Given the description of an element on the screen output the (x, y) to click on. 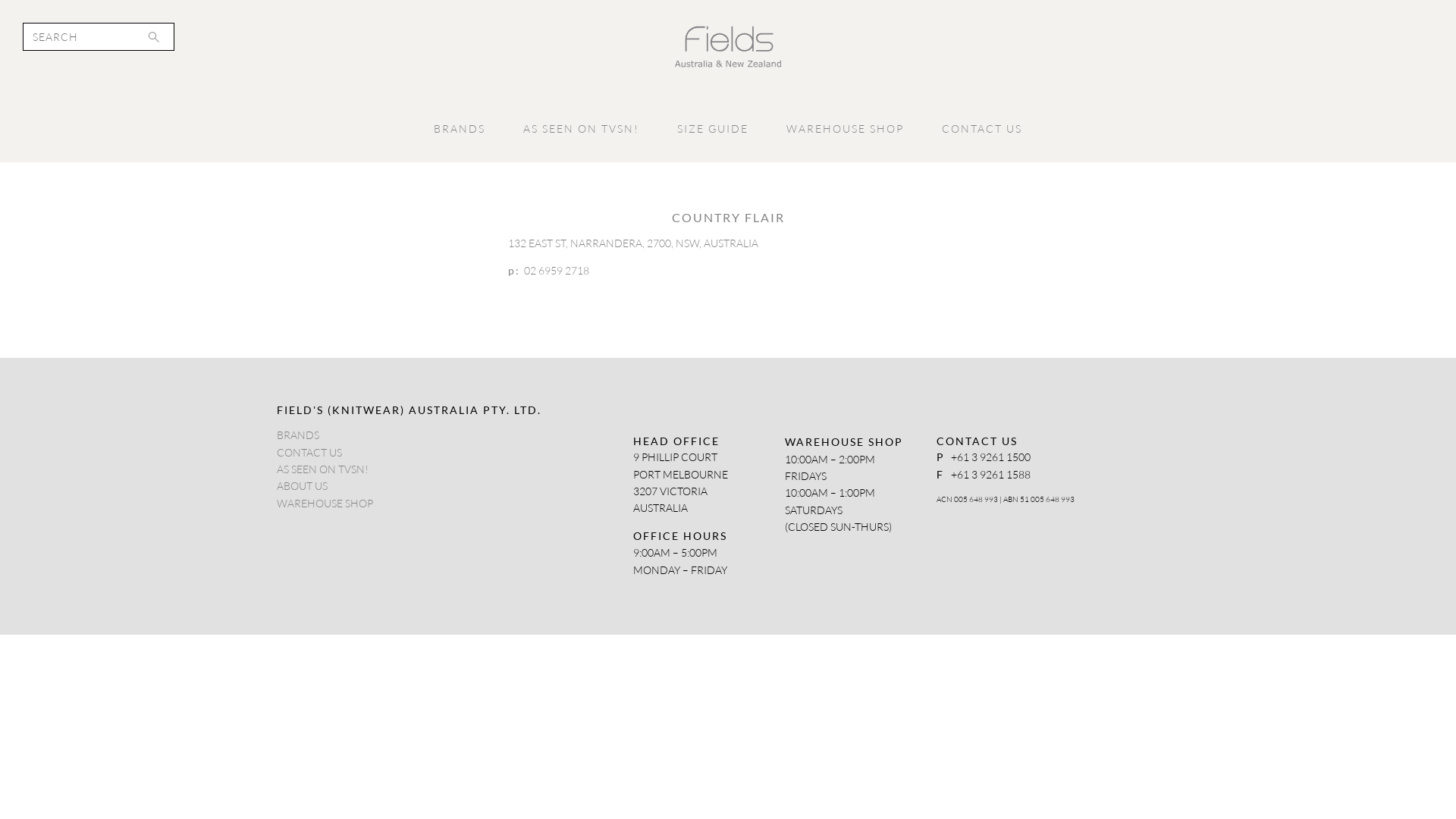
AS SEEN ON TVSN! Element type: text (322, 469)
WAREHOUSE SHOP Element type: text (844, 128)
WAREHOUSE SHOP Element type: text (324, 503)
CONTACT US Element type: text (309, 452)
CONTACT US Element type: text (981, 128)
AS SEEN ON TVSN! Element type: text (581, 128)
SIZE GUIDE Element type: text (712, 128)
BRANDS Element type: text (459, 128)
ABOUT US Element type: text (301, 485)
BRANDS Element type: text (297, 434)
